Given the description of an element on the screen output the (x, y) to click on. 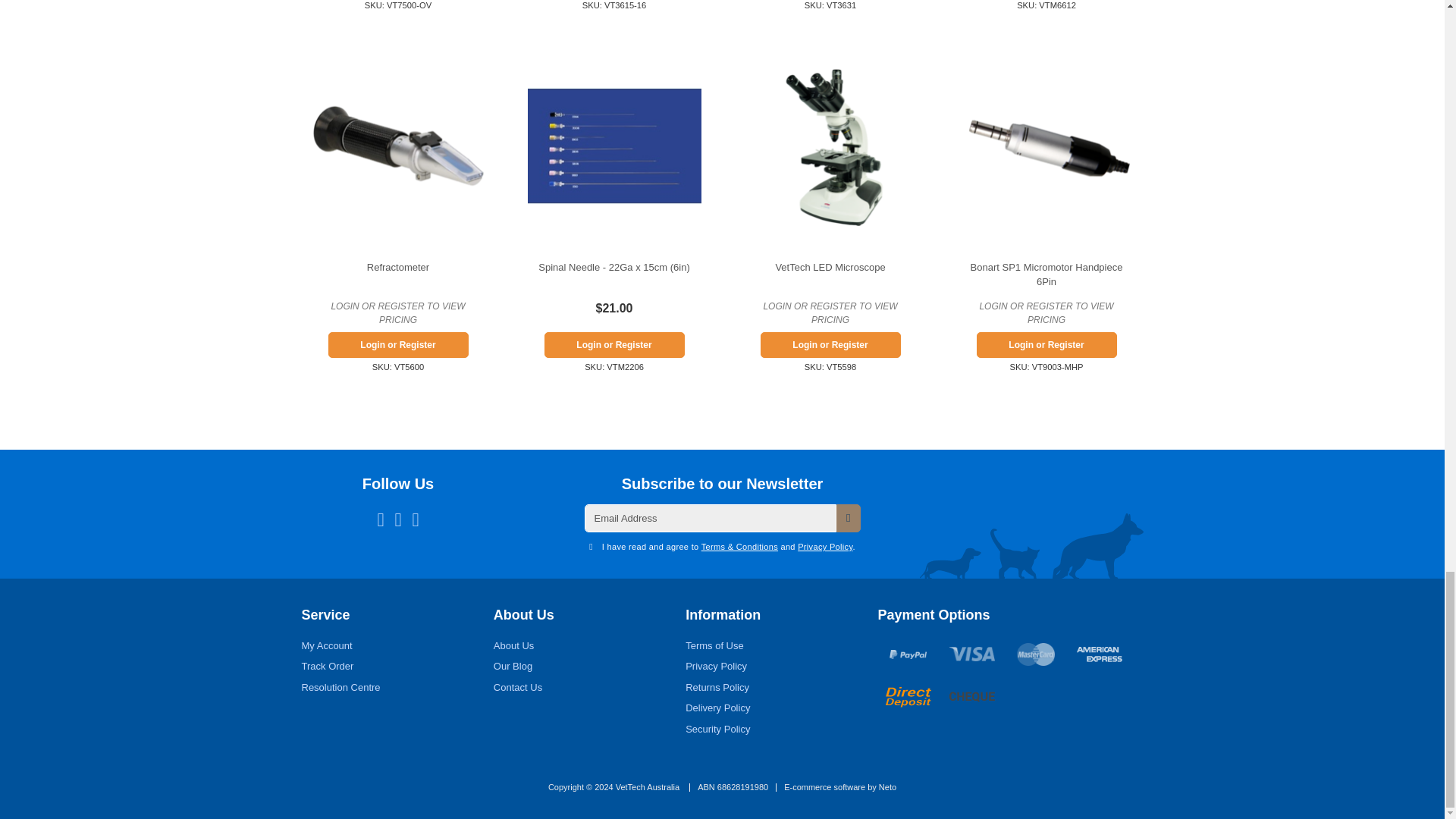
Login or Register (1046, 344)
Login or Register (397, 344)
Login or Register (614, 344)
Login or Register (829, 344)
